Given the description of an element on the screen output the (x, y) to click on. 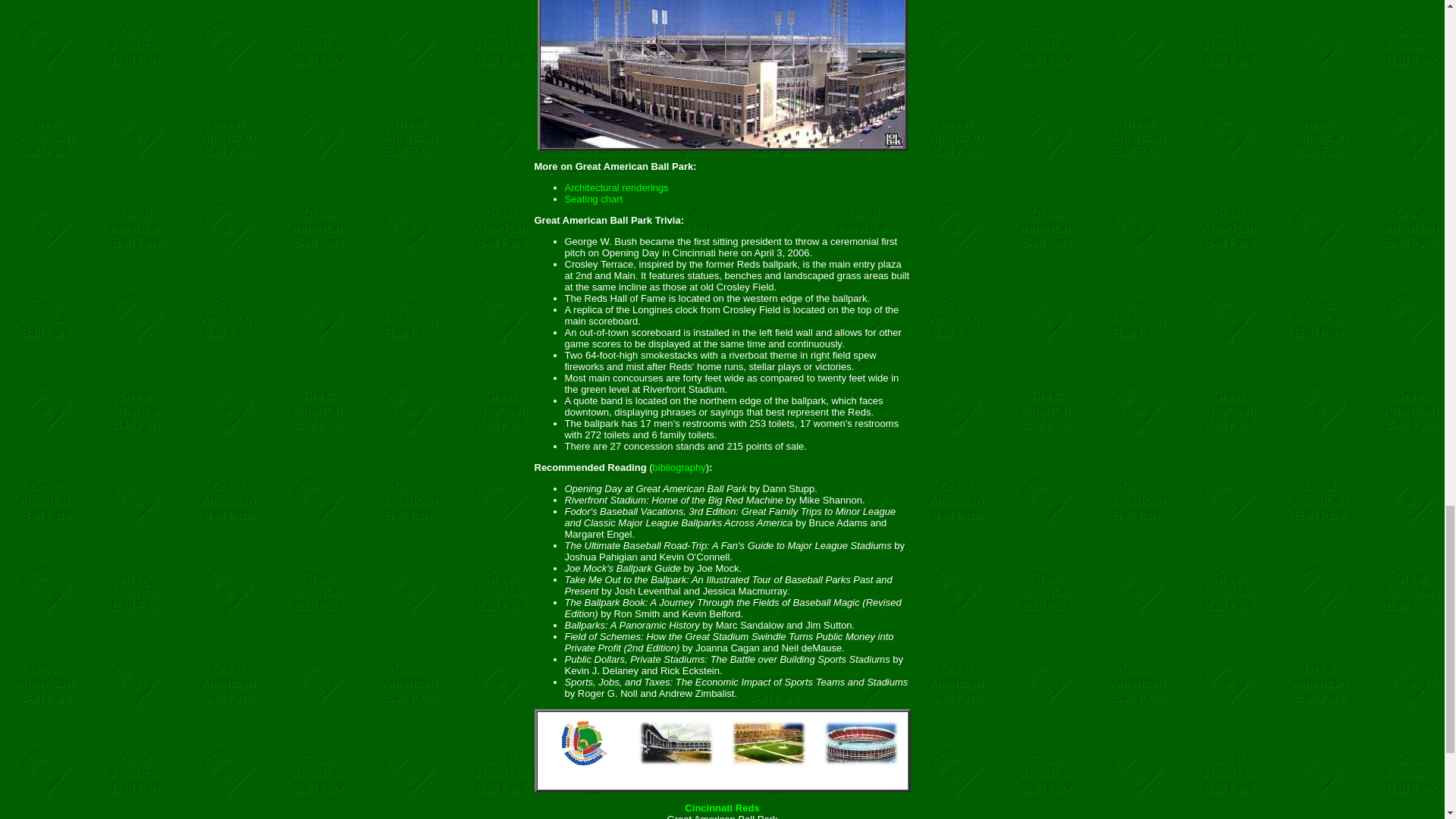
Architectural renderings (616, 187)
Seating chart (593, 198)
Cincinnati Reds (721, 808)
bibliography (679, 467)
